Given the description of an element on the screen output the (x, y) to click on. 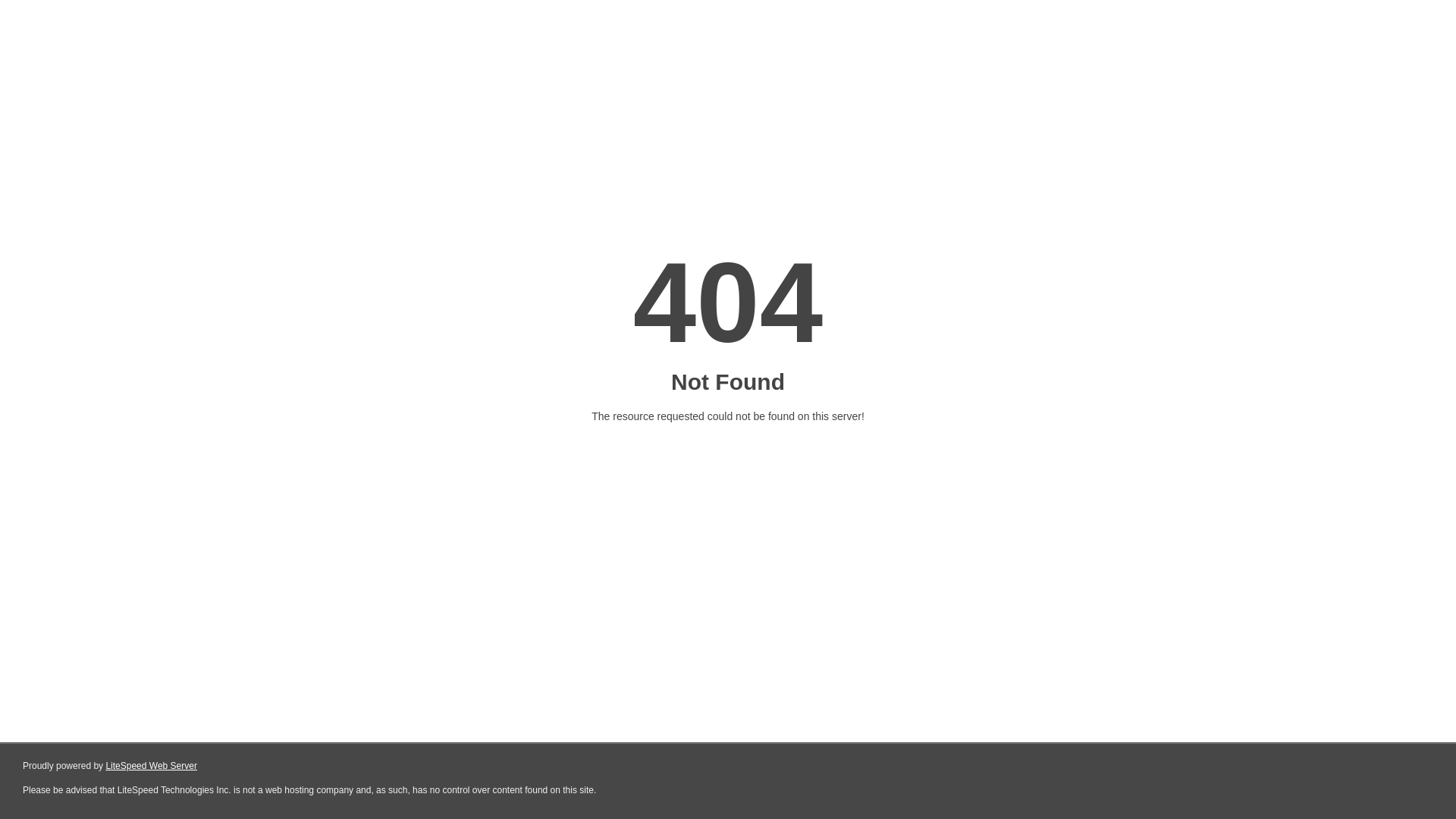
LiteSpeed Web Server Element type: text (151, 765)
